Given the description of an element on the screen output the (x, y) to click on. 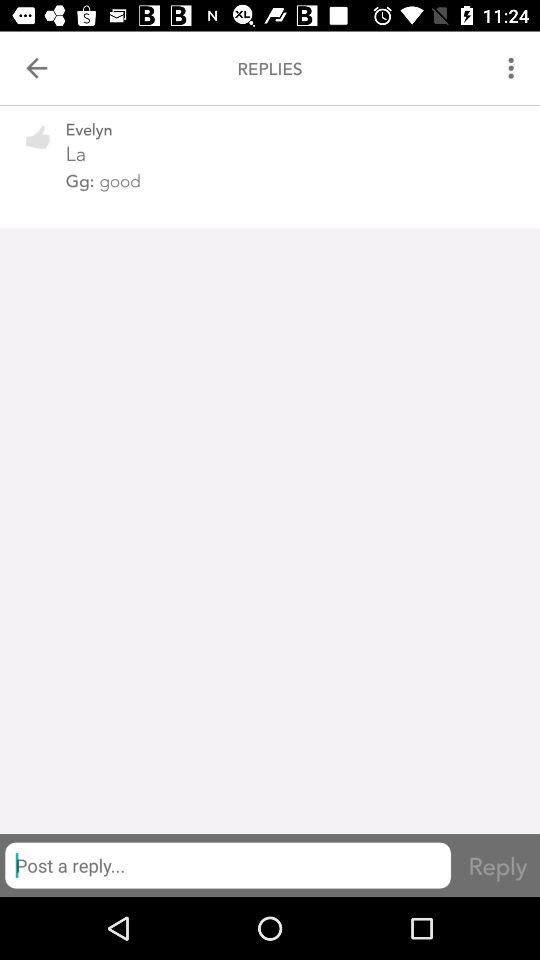
click the icon next to evelyn item (37, 149)
